Given the description of an element on the screen output the (x, y) to click on. 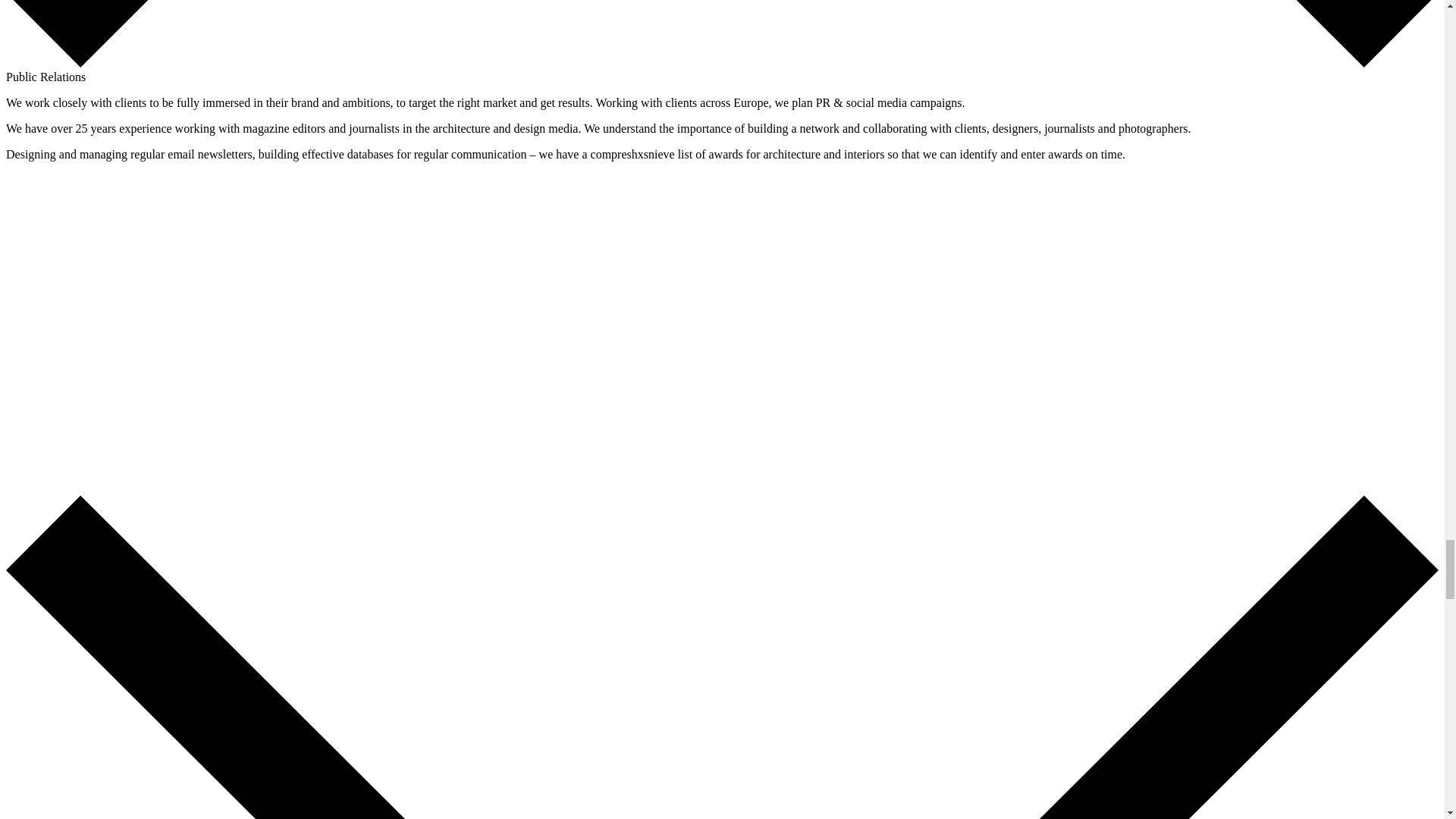
Public Relations (45, 76)
